Given the description of an element on the screen output the (x, y) to click on. 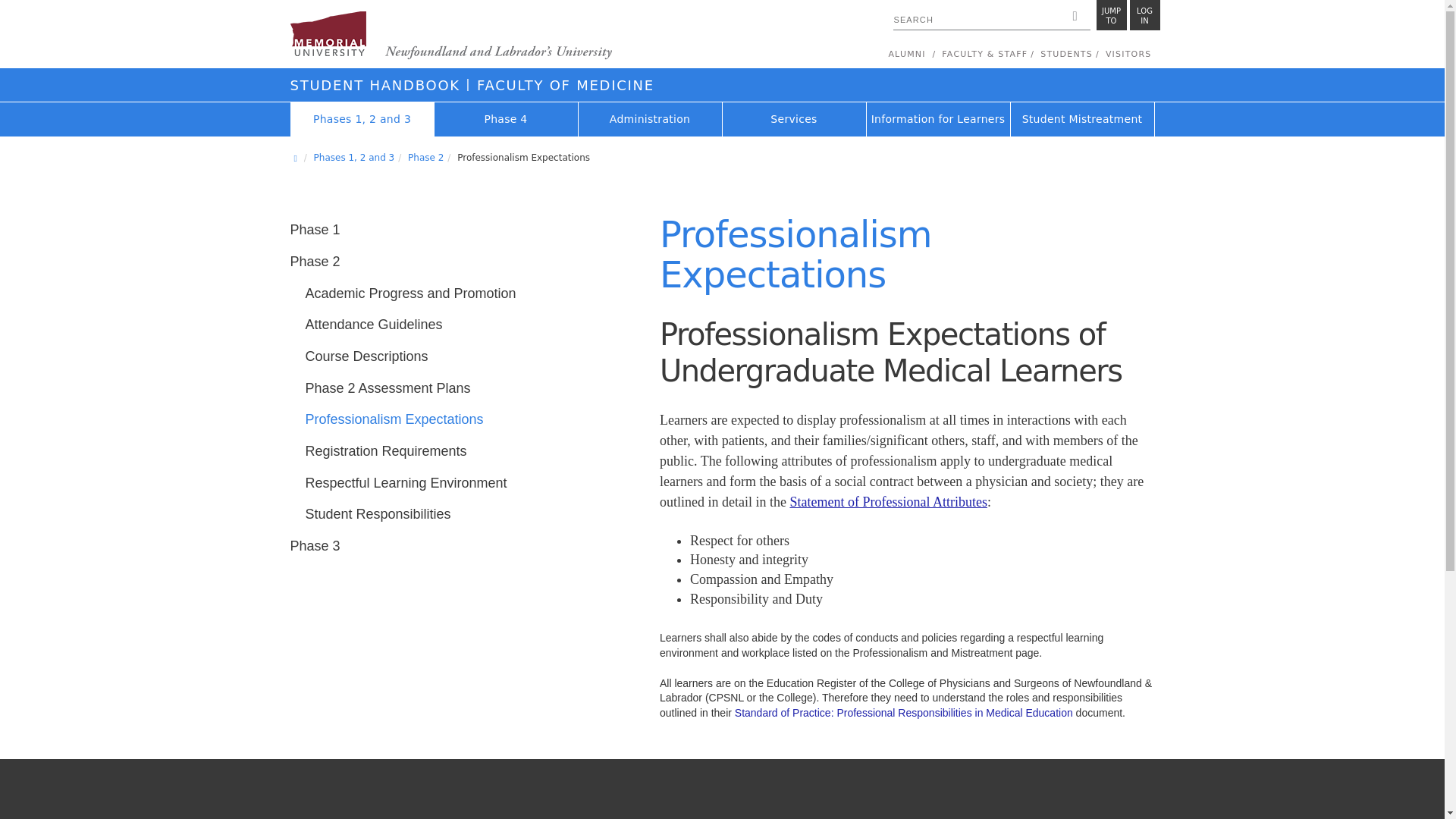
Memorial University (450, 35)
JUMP TO (1111, 15)
Memorial University of Newfoundland (1144, 15)
